Given the description of an element on the screen output the (x, y) to click on. 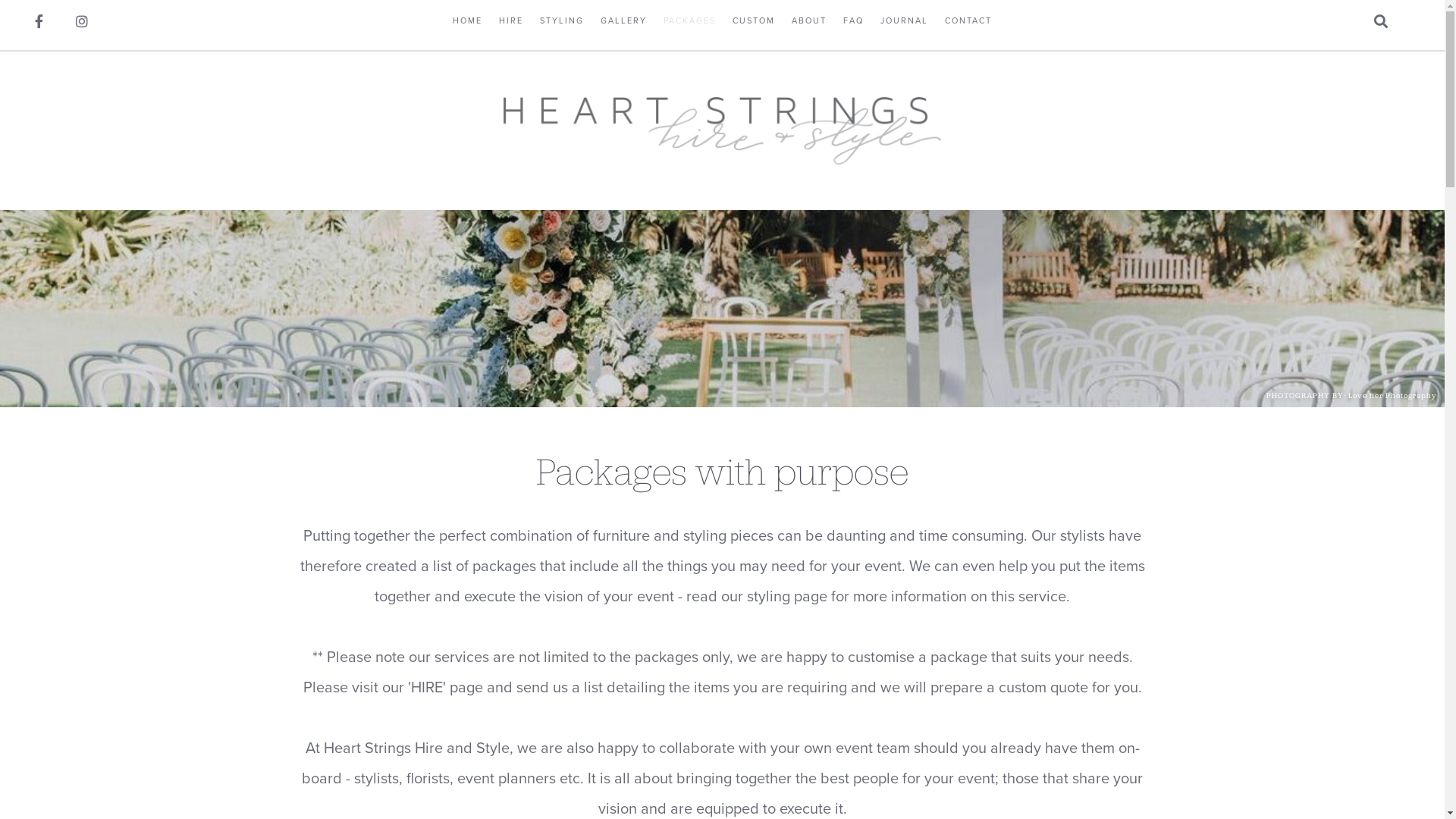
CONTACT Element type: text (968, 20)
HOME Element type: text (467, 20)
STYLING Element type: text (561, 20)
CUSTOM Element type: text (753, 20)
FAQ Element type: text (853, 20)
HIRE Element type: text (510, 20)
ABOUT Element type: text (808, 20)
JOURNAL Element type: text (904, 20)
PACKAGES Element type: text (689, 20)
GALLERY Element type: text (623, 20)
